Given the description of an element on the screen output the (x, y) to click on. 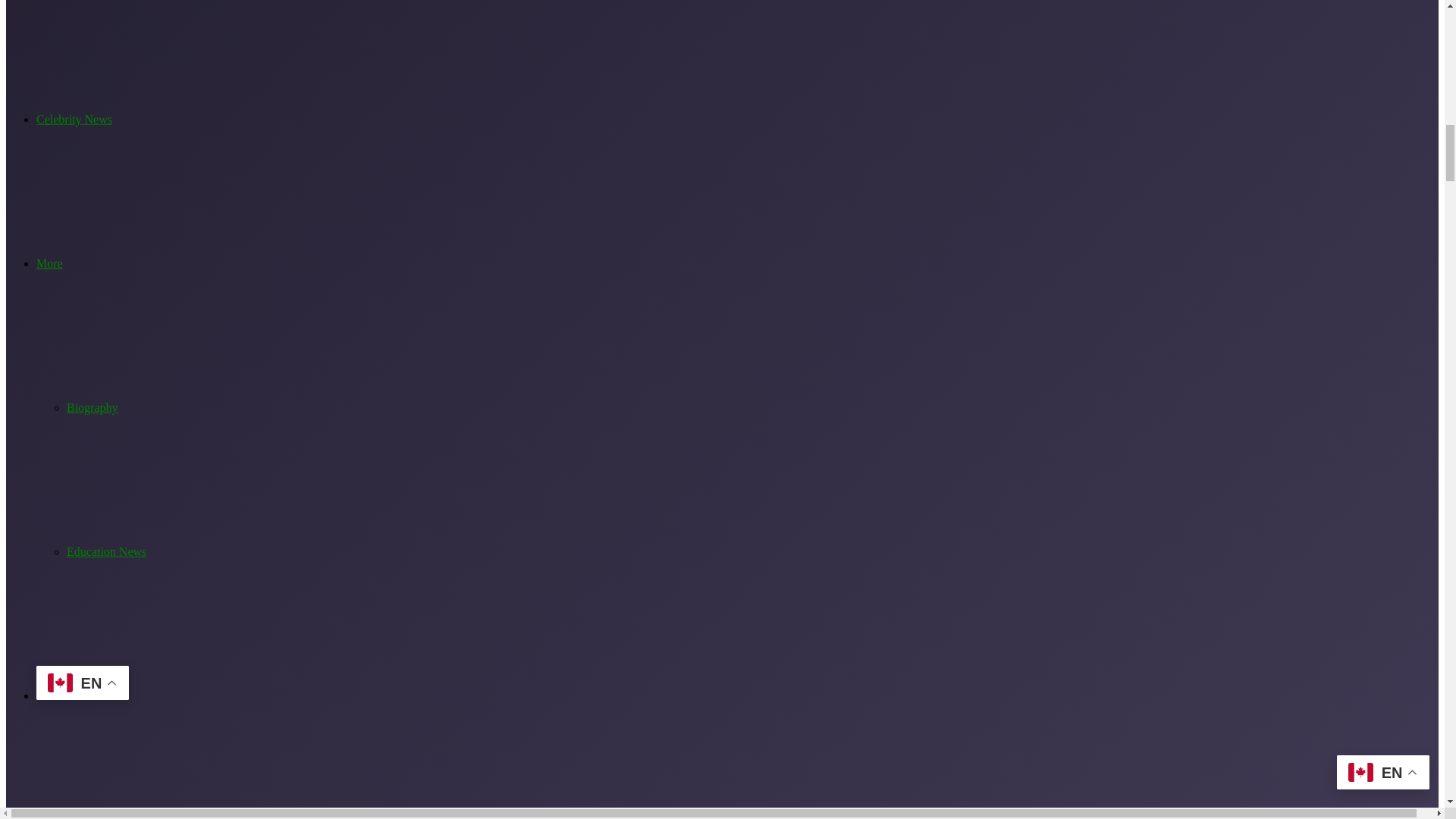
More (49, 263)
Biography (91, 407)
Education News (106, 551)
Celebrity News (74, 119)
